Given the description of an element on the screen output the (x, y) to click on. 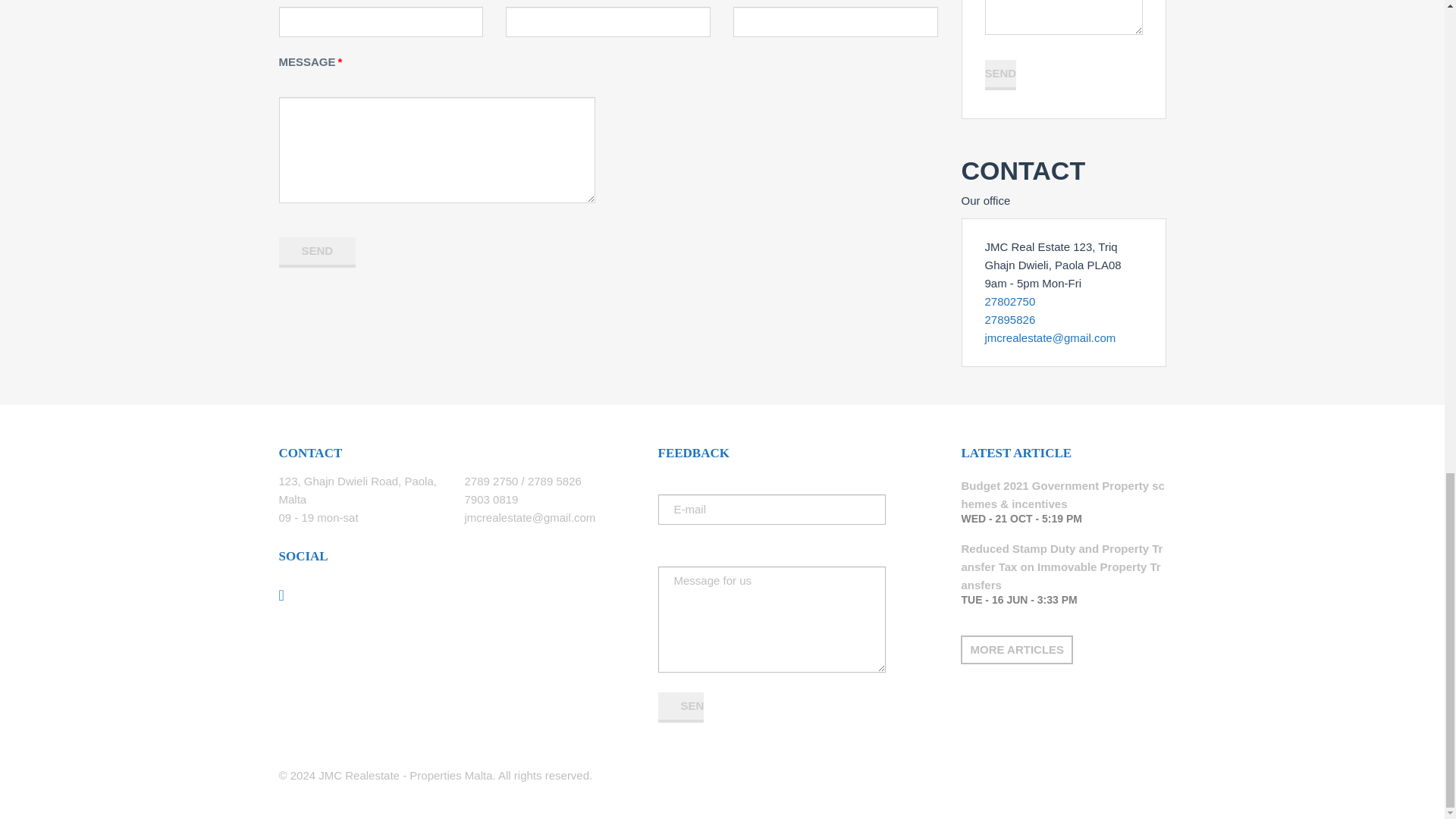
Send (317, 252)
Send (680, 707)
Send (317, 252)
Send (1000, 74)
